Given the description of an element on the screen output the (x, y) to click on. 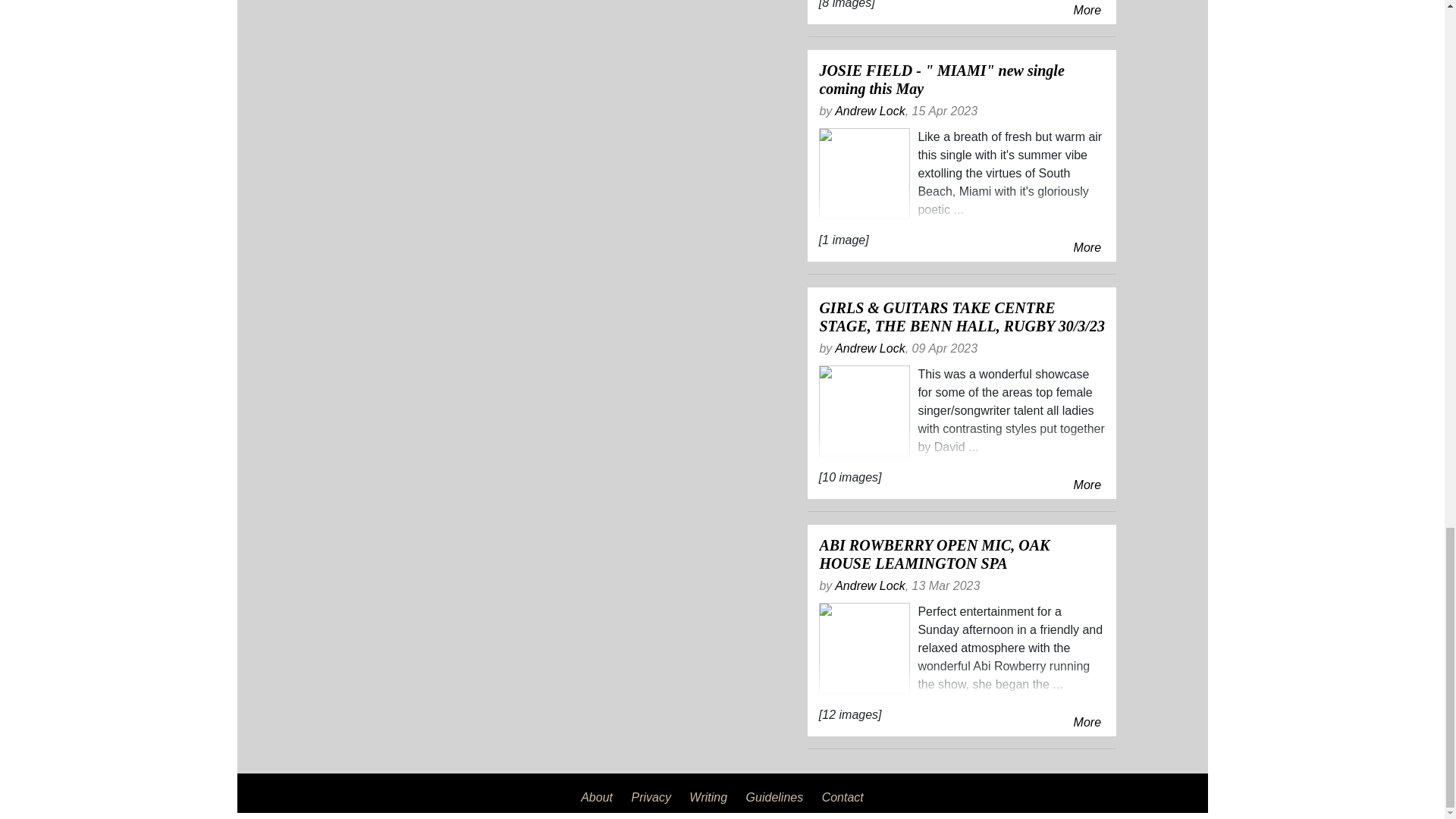
Andrew Lock (869, 110)
Andrew Lock (869, 348)
